Given the description of an element on the screen output the (x, y) to click on. 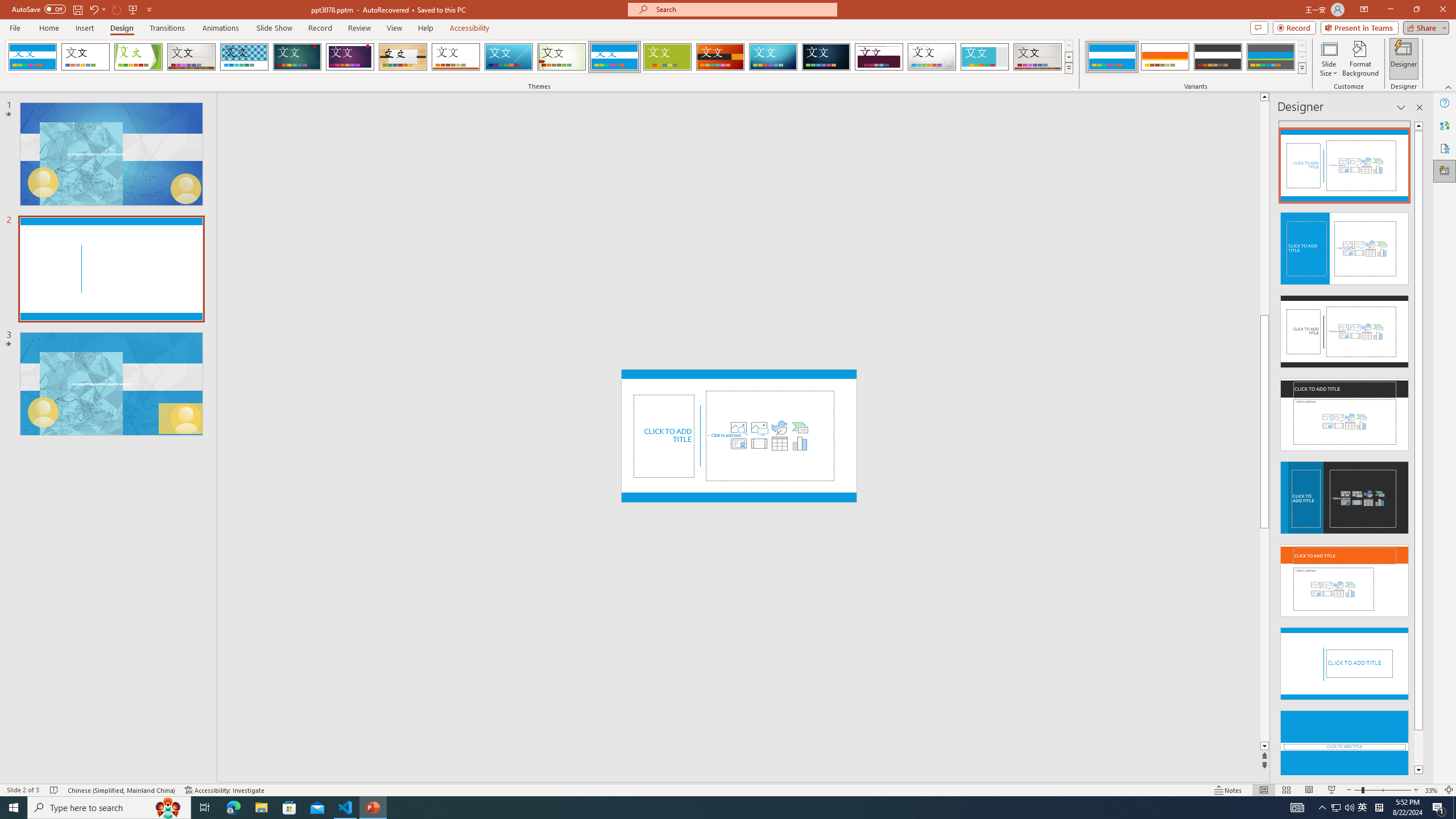
Damask (826, 56)
